Given the description of an element on the screen output the (x, y) to click on. 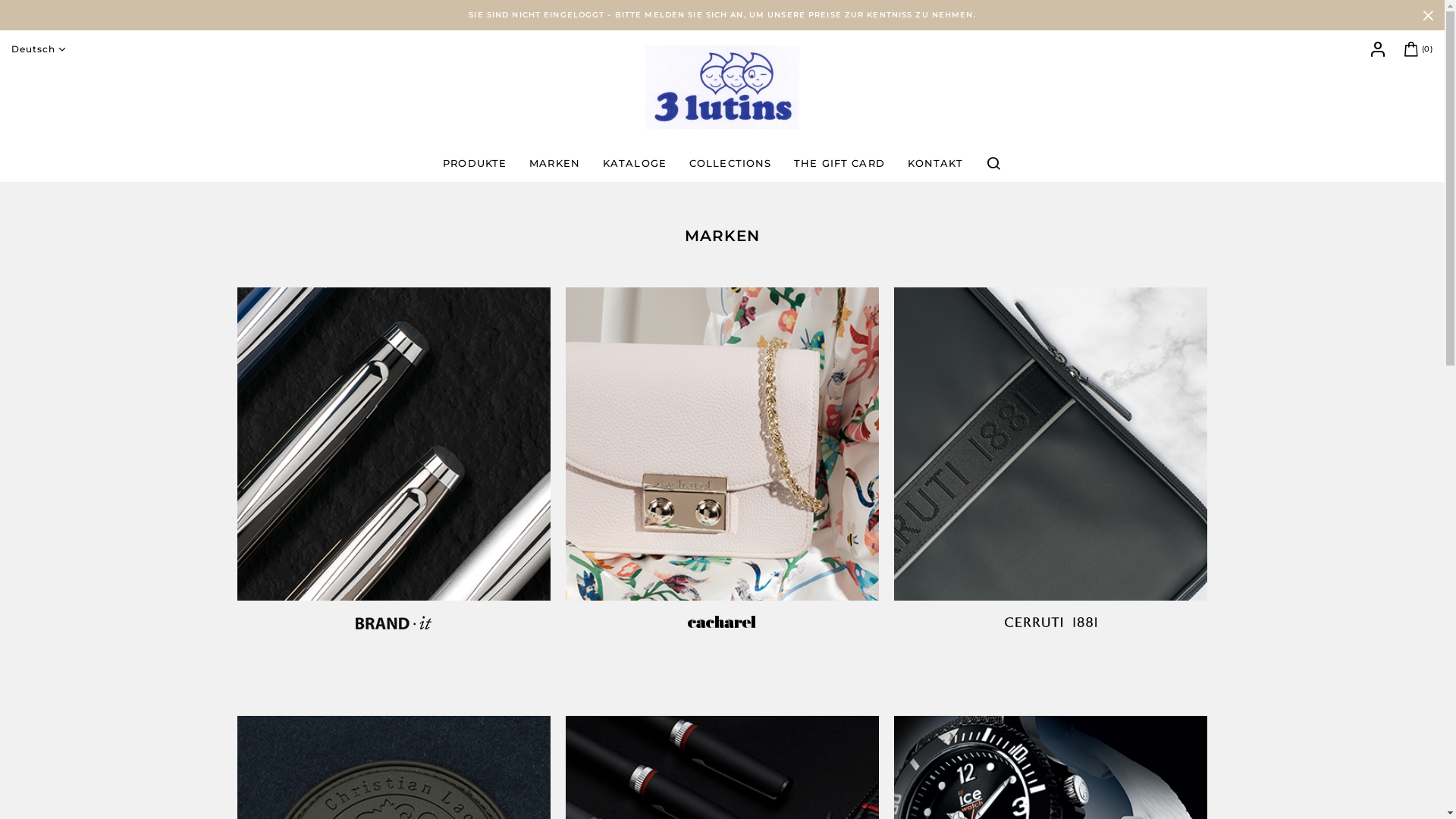
KATALOGE Element type: text (634, 163)
(0) Element type: text (1416, 49)
MARKEN Element type: text (554, 163)
COLLECTIONS Element type: text (729, 163)
PRODUKTE Element type: text (474, 163)
THE GIFT CARD Element type: text (839, 163)
KONTAKT Element type: text (935, 163)
Deutsch Element type: text (40, 49)
